Given the description of an element on the screen output the (x, y) to click on. 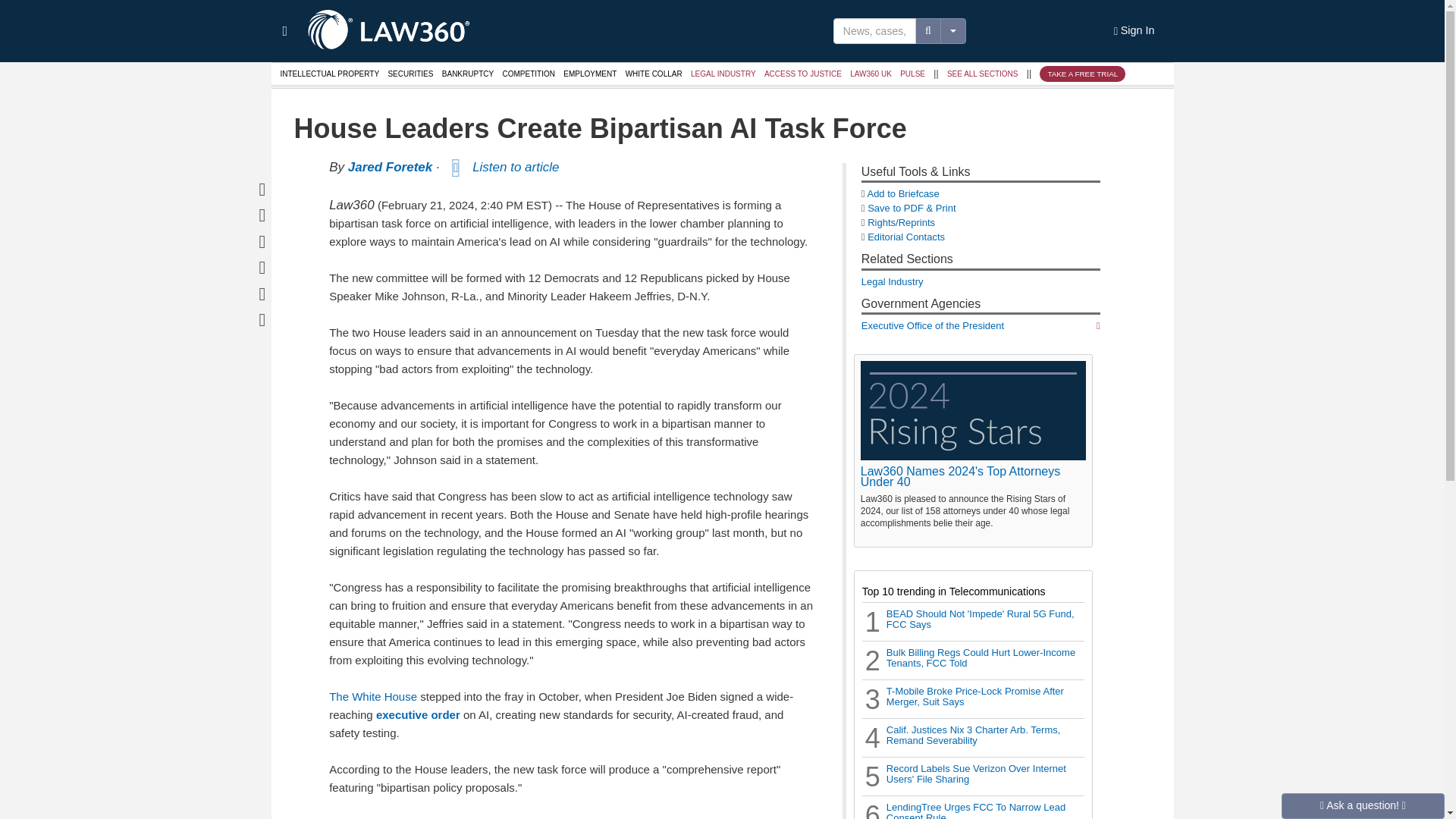
Submit (5, 2)
  Sign In (1133, 31)
Toggle Dropdown (953, 31)
